Given the description of an element on the screen output the (x, y) to click on. 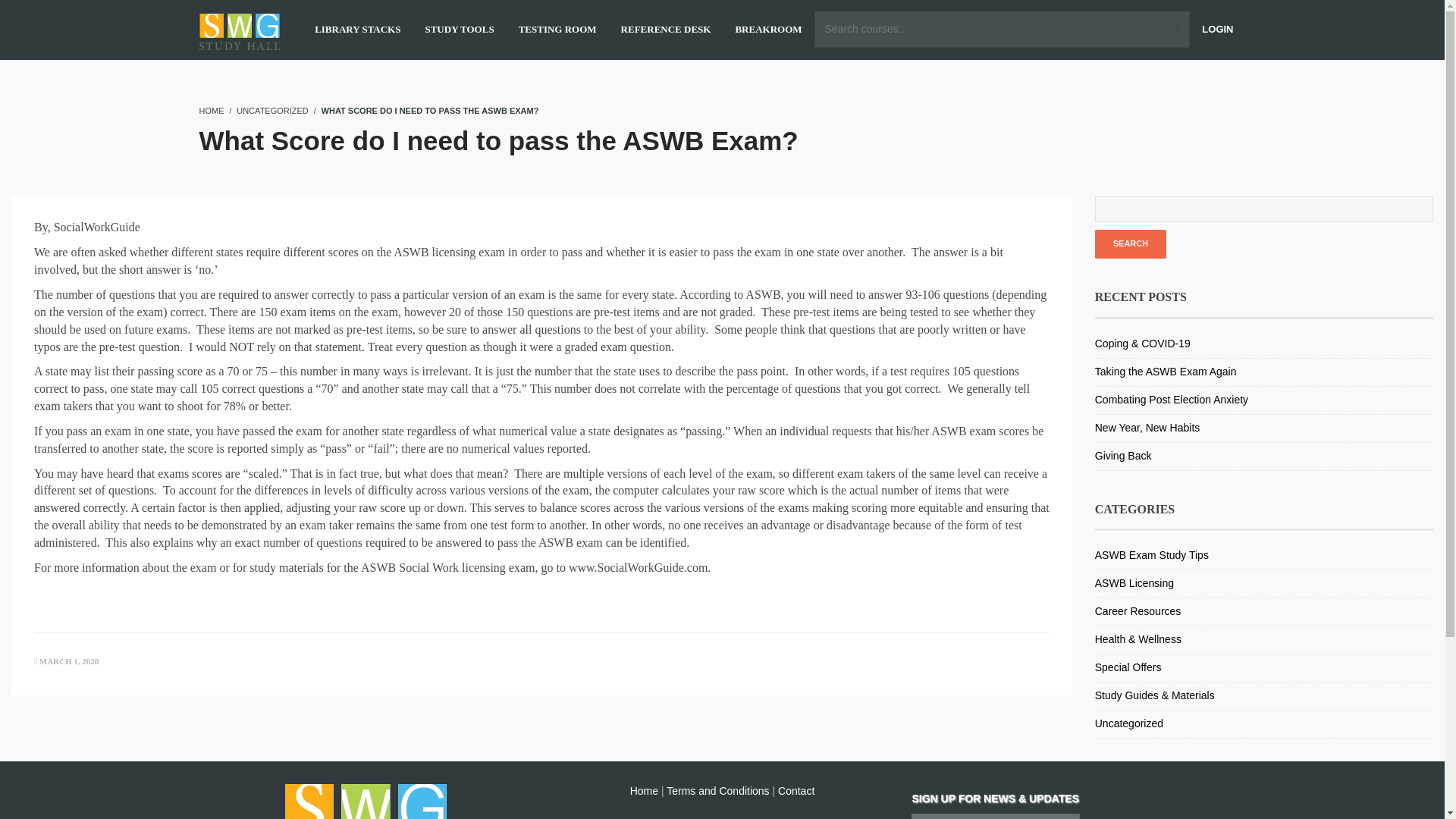
ASWB Exam Study Tips (1151, 554)
Uncategorized (1128, 723)
Combating Post Election Anxiety (1170, 399)
New Year, New Habits (1146, 427)
ASWB Licensing (1133, 582)
LIBRARY STACKS (357, 29)
Career Resources (1137, 611)
Special Offers (1127, 666)
Giving Back (1122, 455)
BREAKROOM (768, 29)
